Given the description of an element on the screen output the (x, y) to click on. 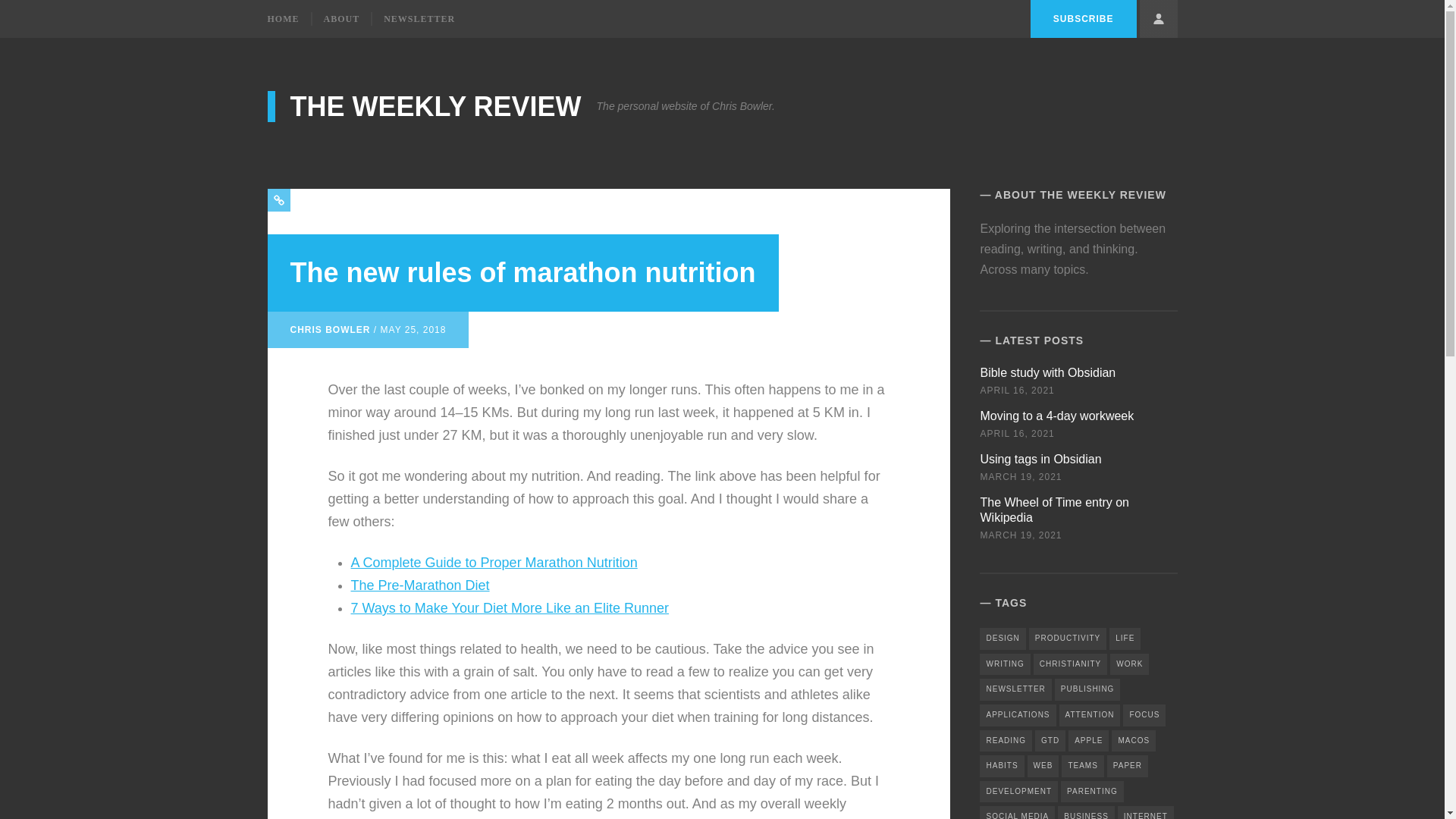
PUBLISHING (365, 18)
ABOUT (1087, 689)
Bible study with Obsidian (341, 18)
The Wheel of Time entry on Wikipedia (1047, 371)
APPLE (1054, 509)
ATTENTION (1088, 740)
Using tags in Obsidian (1090, 715)
7 Ways to Make Your Diet More Like an Elite Runner (1039, 458)
CHRISTIANITY (509, 606)
